Given the description of an element on the screen output the (x, y) to click on. 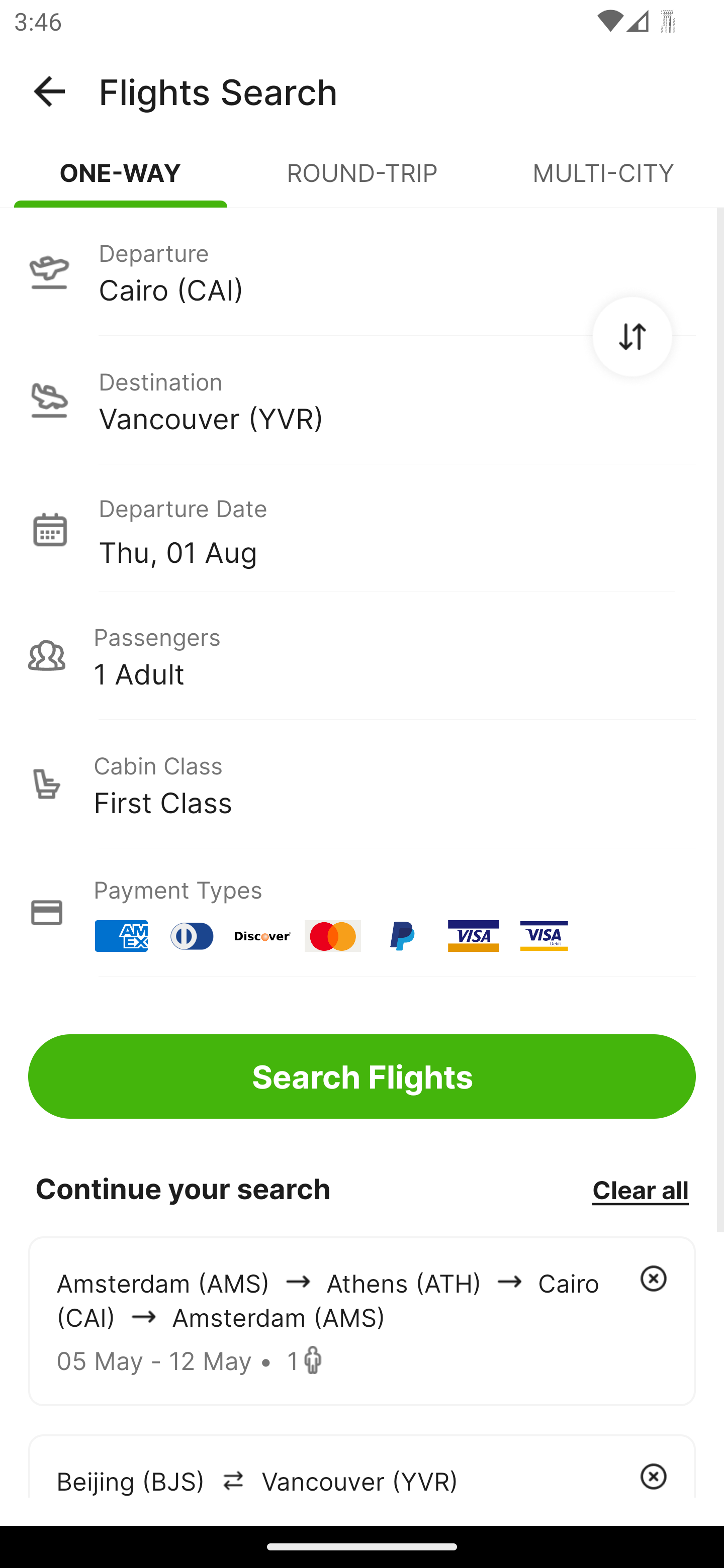
ONE-WAY (120, 180)
ROUND-TRIP (361, 180)
MULTI-CITY (603, 180)
Departure Cairo (CAI) (362, 270)
Destination Vancouver (YVR) (362, 400)
Departure Date Thu, 01 Aug (396, 528)
Passengers 1 Adult (362, 655)
Cabin Class First Class (362, 783)
Payment Types (362, 912)
Search Flights (361, 1075)
Clear all (640, 1189)
Beijing (BJS)  arrowIcon  Vancouver (YVR) (361, 1465)
